Given the description of an element on the screen output the (x, y) to click on. 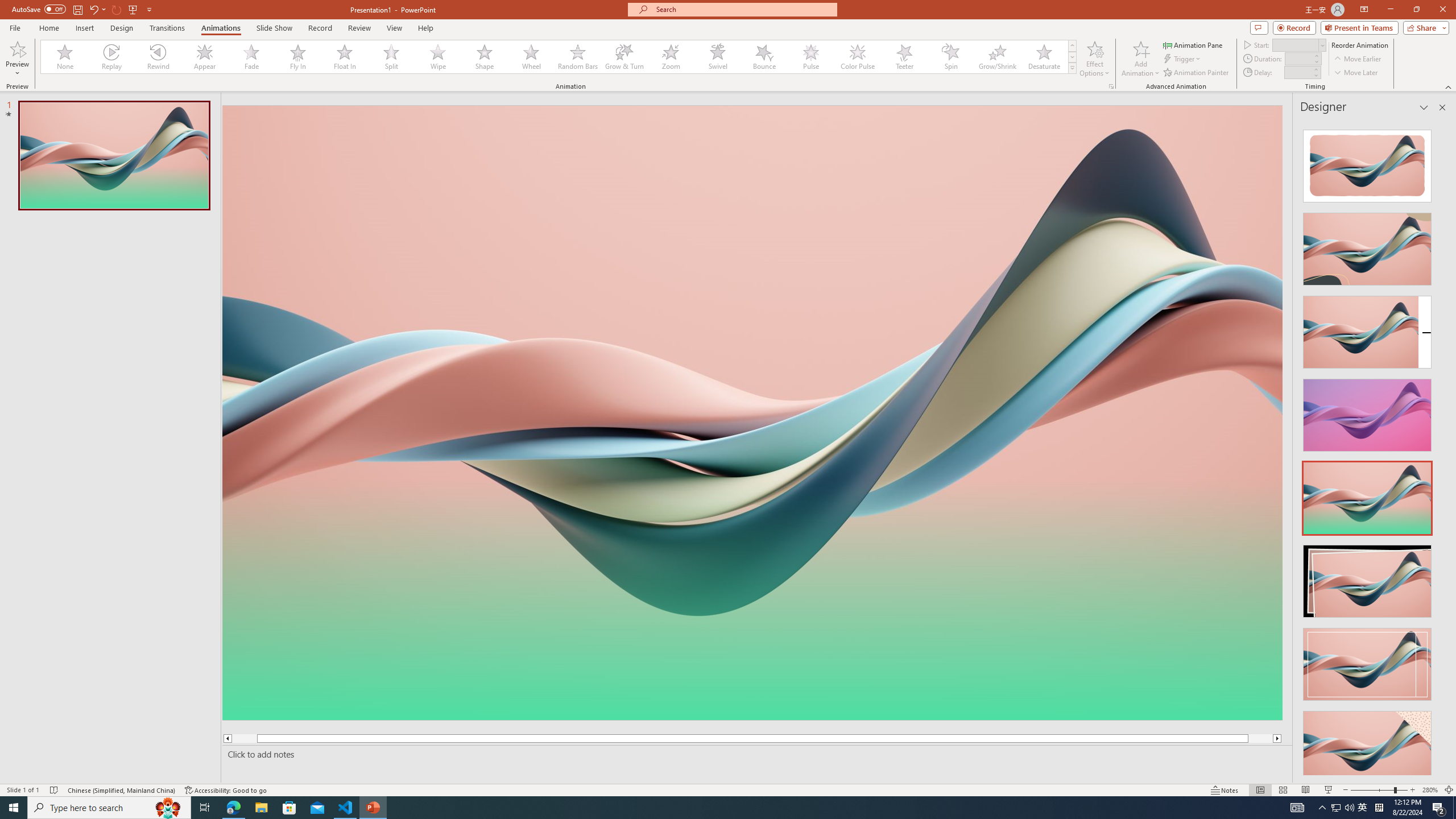
Wipe (437, 56)
Grow/Shrink (997, 56)
Shape (484, 56)
Class: NetUIScrollBar (1441, 447)
Decorative Locked (752, 579)
Add Animation (1141, 58)
Less (1315, 75)
Fly In (298, 56)
